Given the description of an element on the screen output the (x, y) to click on. 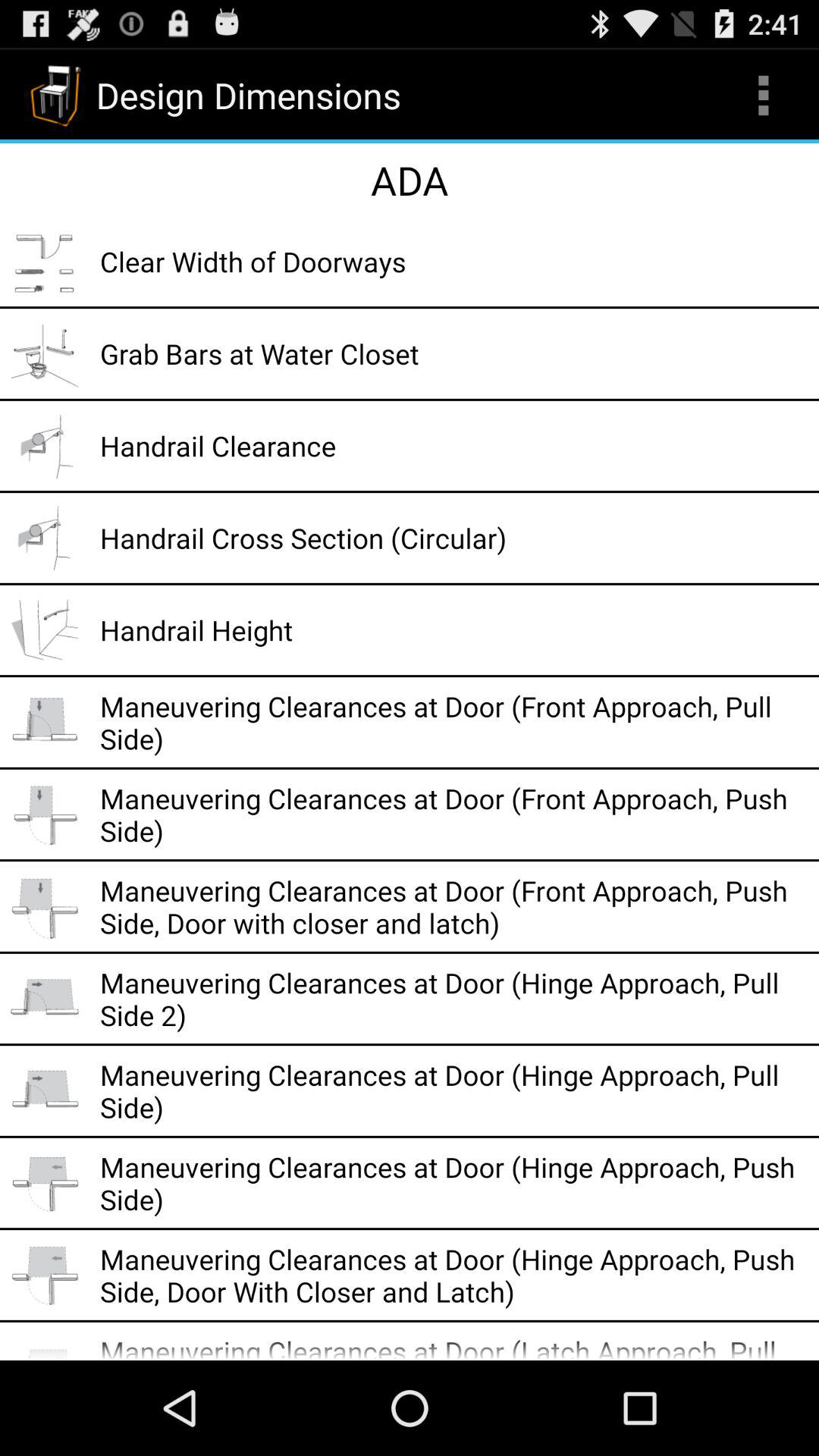
select icon next to design dimensions (763, 95)
